Given the description of an element on the screen output the (x, y) to click on. 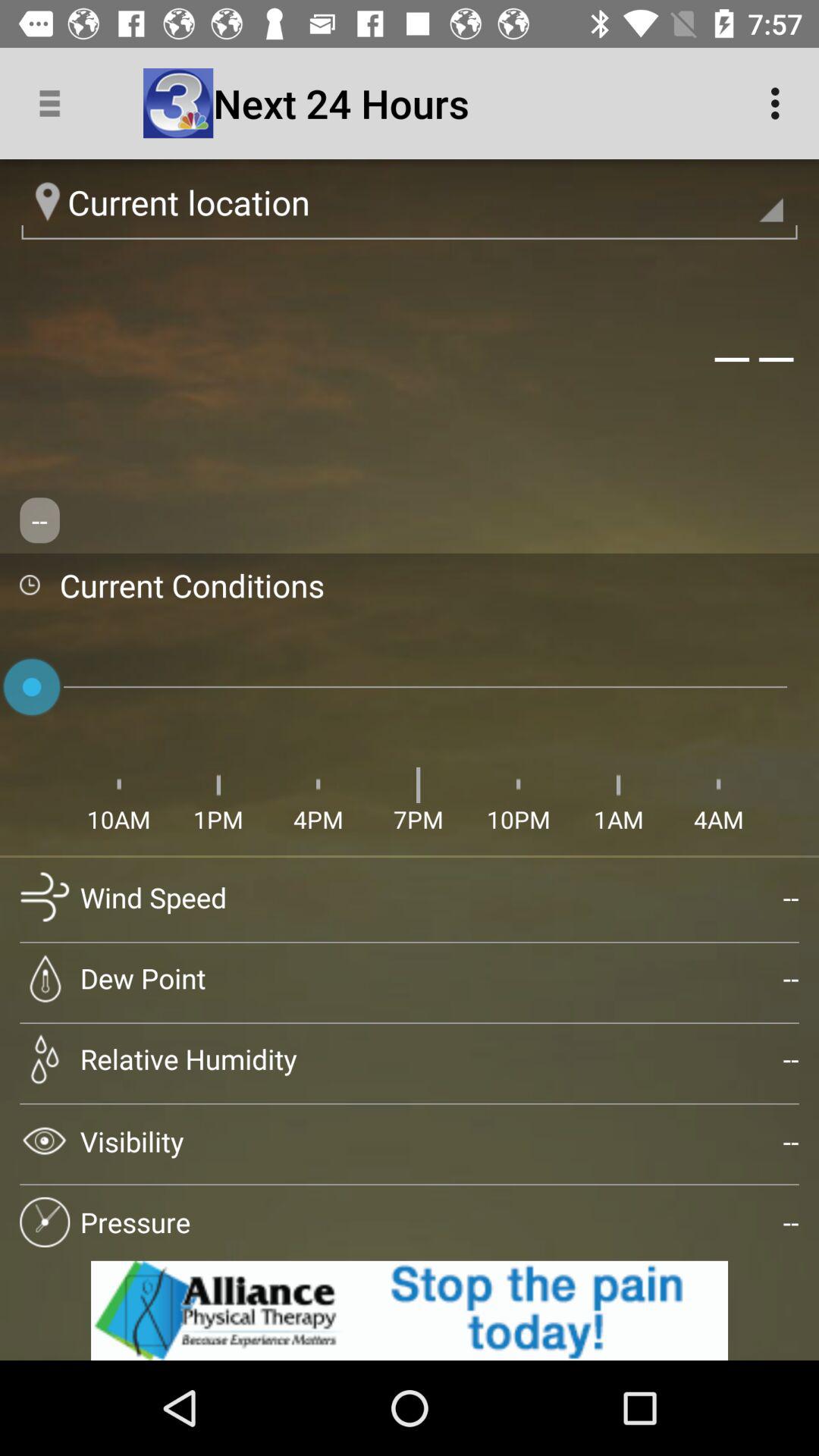
open advertisement (409, 1310)
